Given the description of an element on the screen output the (x, y) to click on. 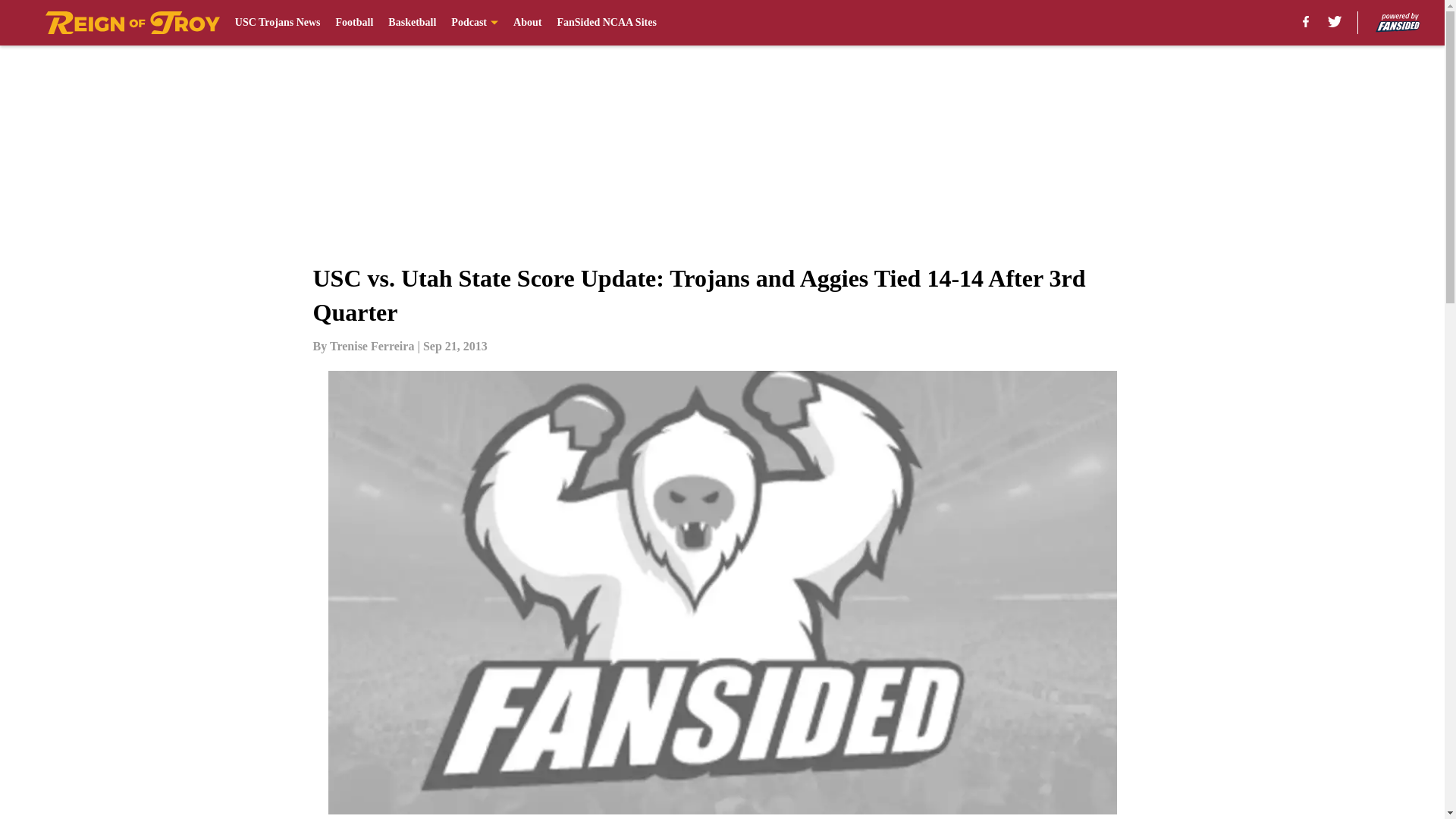
FanSided NCAA Sites (606, 22)
USC Trojans News (277, 22)
Podcast (474, 22)
Basketball (411, 22)
Football (355, 22)
About (527, 22)
